Given the description of an element on the screen output the (x, y) to click on. 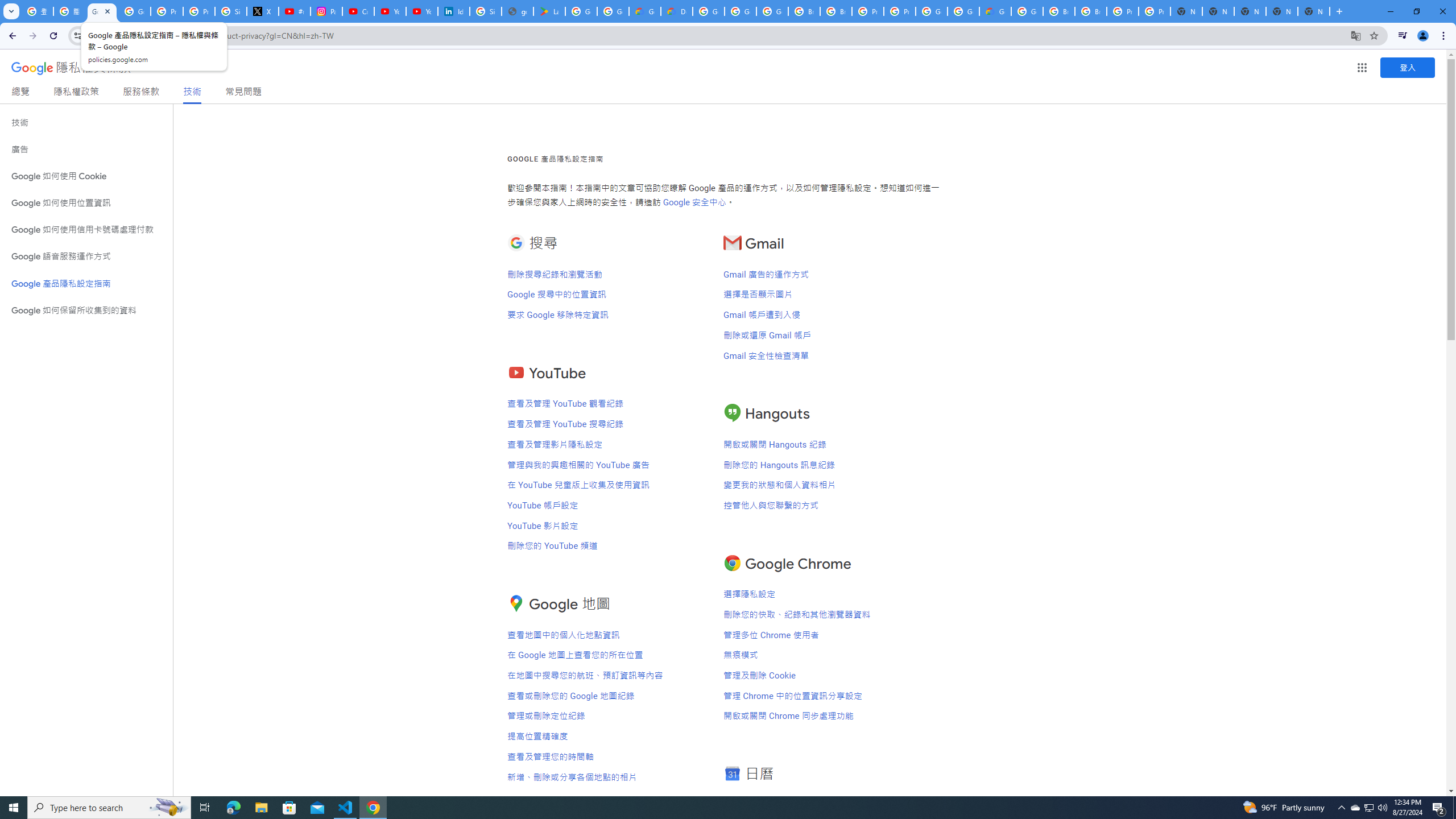
Google Cloud Platform (708, 11)
X (262, 11)
